Given the description of an element on the screen output the (x, y) to click on. 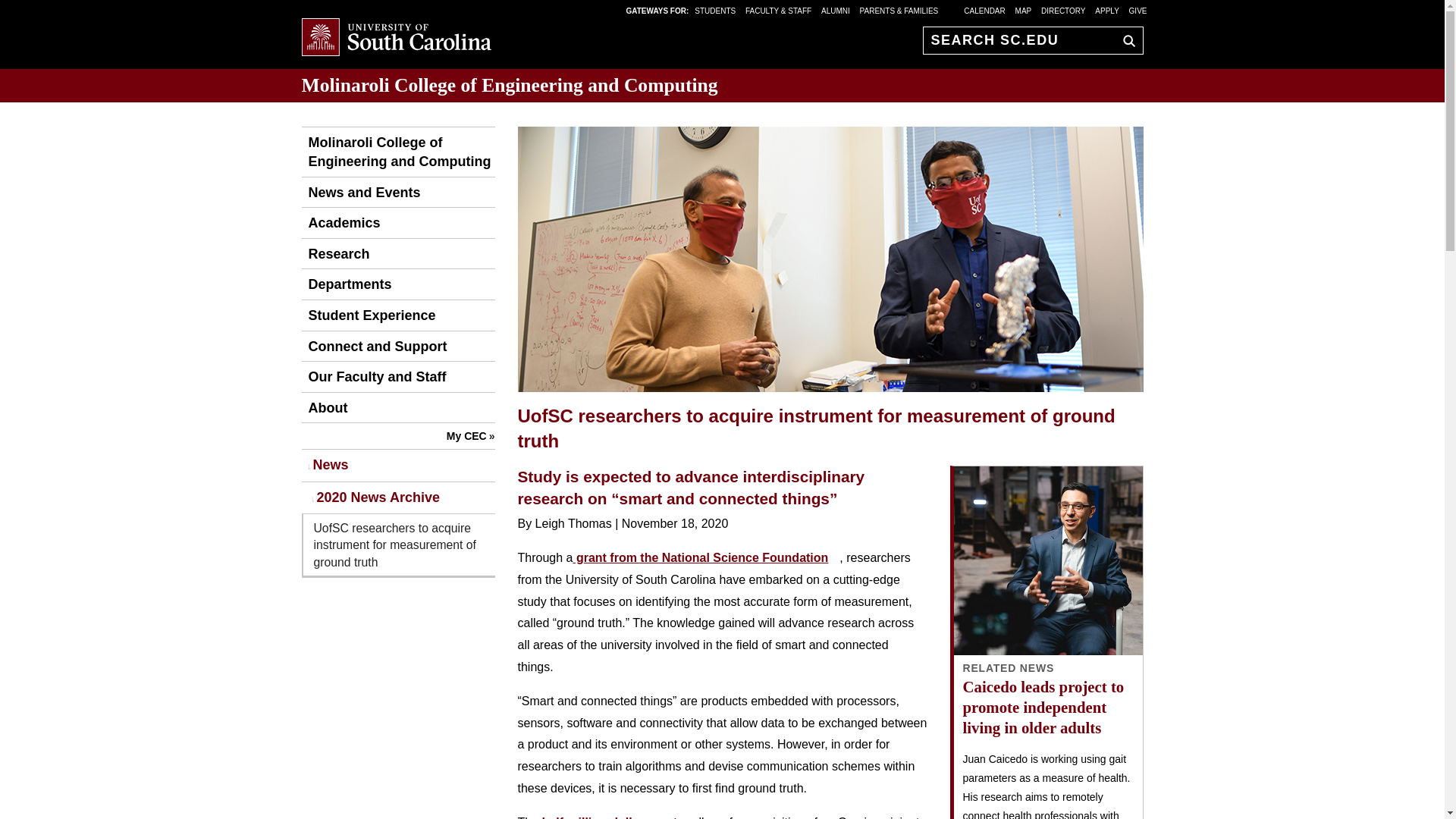
STUDENTS (716, 9)
GIVE (1138, 9)
DIRECTORY (1063, 9)
Molinaroli College of Engineering and Computing (509, 85)
University of South Carolina Home (396, 38)
MAP (1023, 9)
CALENDAR (983, 9)
GO (1125, 40)
APPLY (1106, 9)
GO (1125, 40)
